Given the description of an element on the screen output the (x, y) to click on. 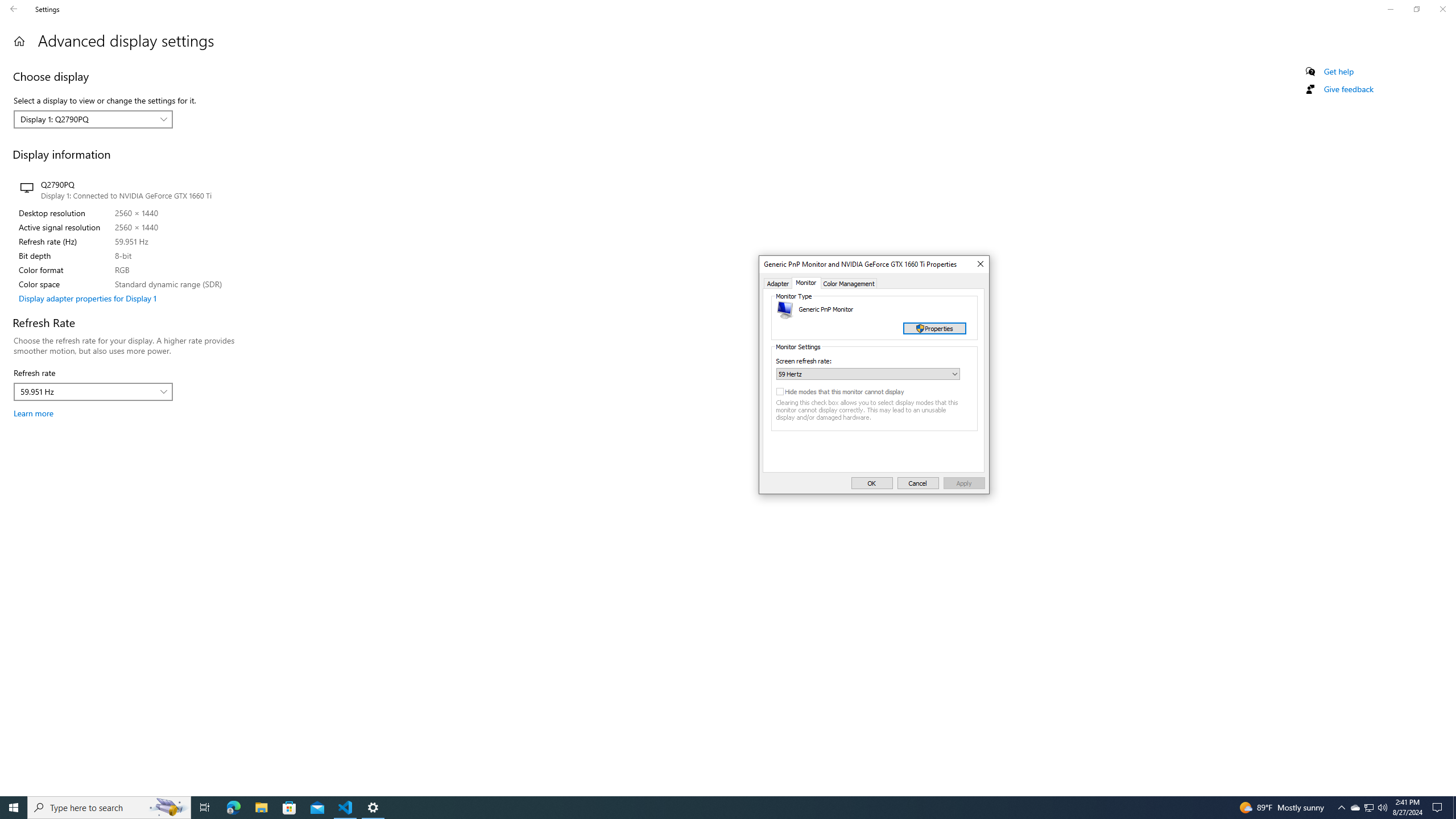
Hide modes that this monitor cannot display (853, 391)
